Given the description of an element on the screen output the (x, y) to click on. 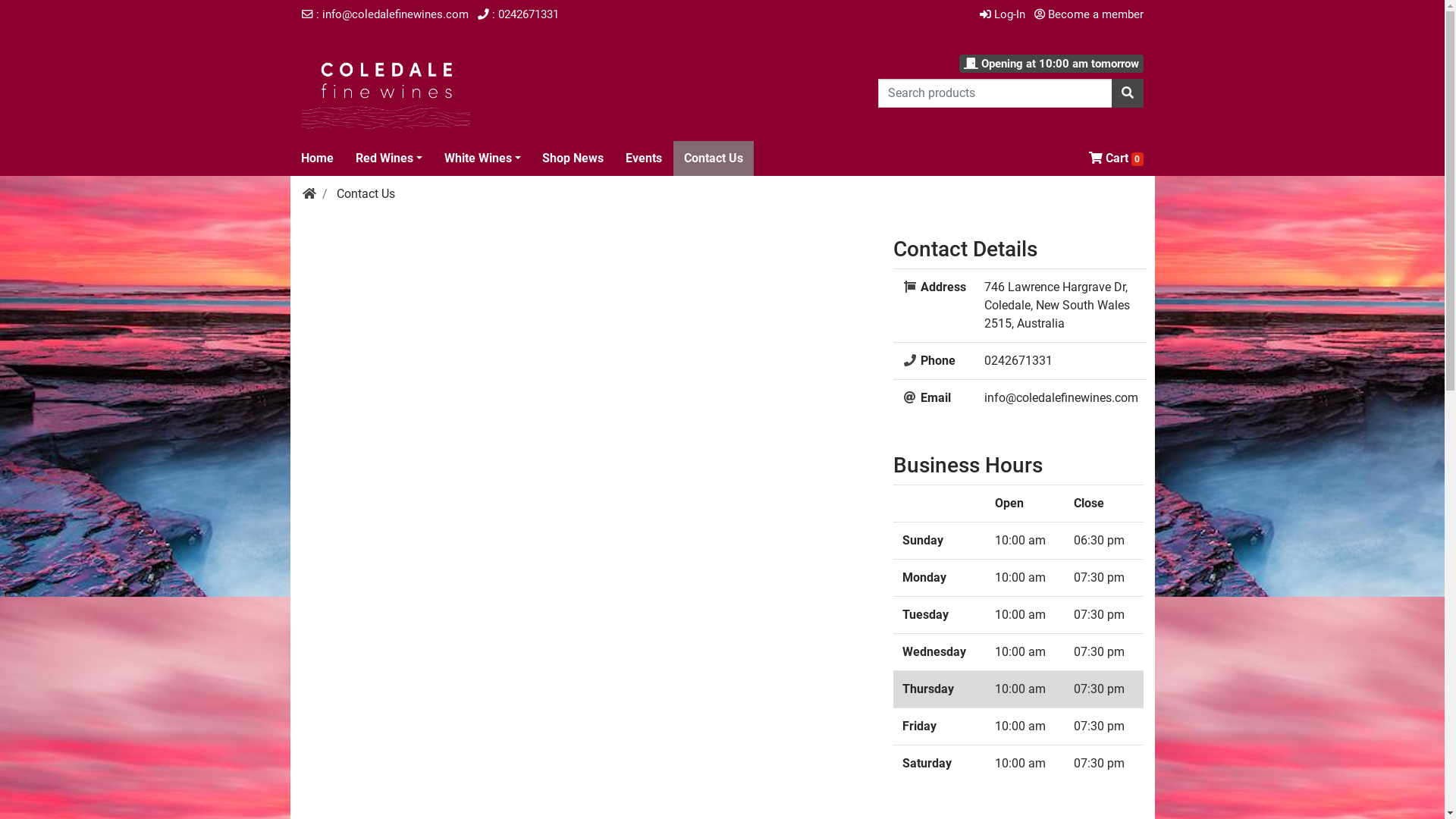
Become a member Element type: text (1088, 14)
Log-In Element type: text (1002, 14)
Red Wines Element type: text (388, 158)
Shop News Element type: text (572, 158)
: info@coledalefinewines.com Element type: text (384, 14)
Cart 0 Element type: text (1116, 158)
Contact Us Element type: text (713, 158)
Events Element type: text (643, 158)
Home Element type: text (316, 158)
: 0242671331 Element type: text (517, 14)
White Wines Element type: text (482, 158)
